Given the description of an element on the screen output the (x, y) to click on. 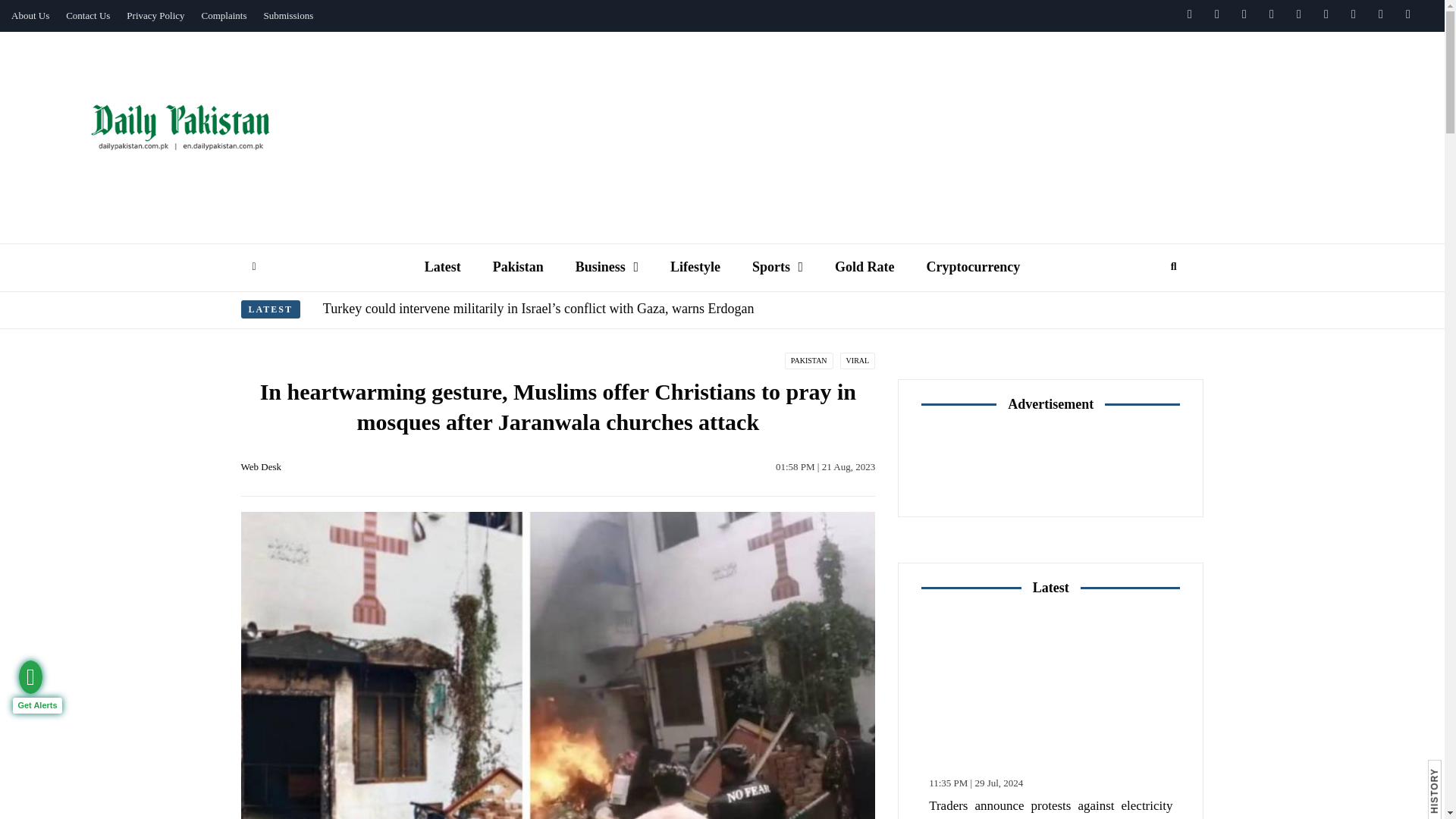
Contact Us (87, 15)
About Us (30, 15)
Submissions (288, 15)
Pakistan (518, 266)
Sports (777, 266)
Traders announce protests against electricity loadshedding (1050, 689)
Complaints (224, 15)
Privacy Policy (155, 15)
Business (606, 266)
Latest (443, 266)
Lifestyle (694, 266)
